Given the description of an element on the screen output the (x, y) to click on. 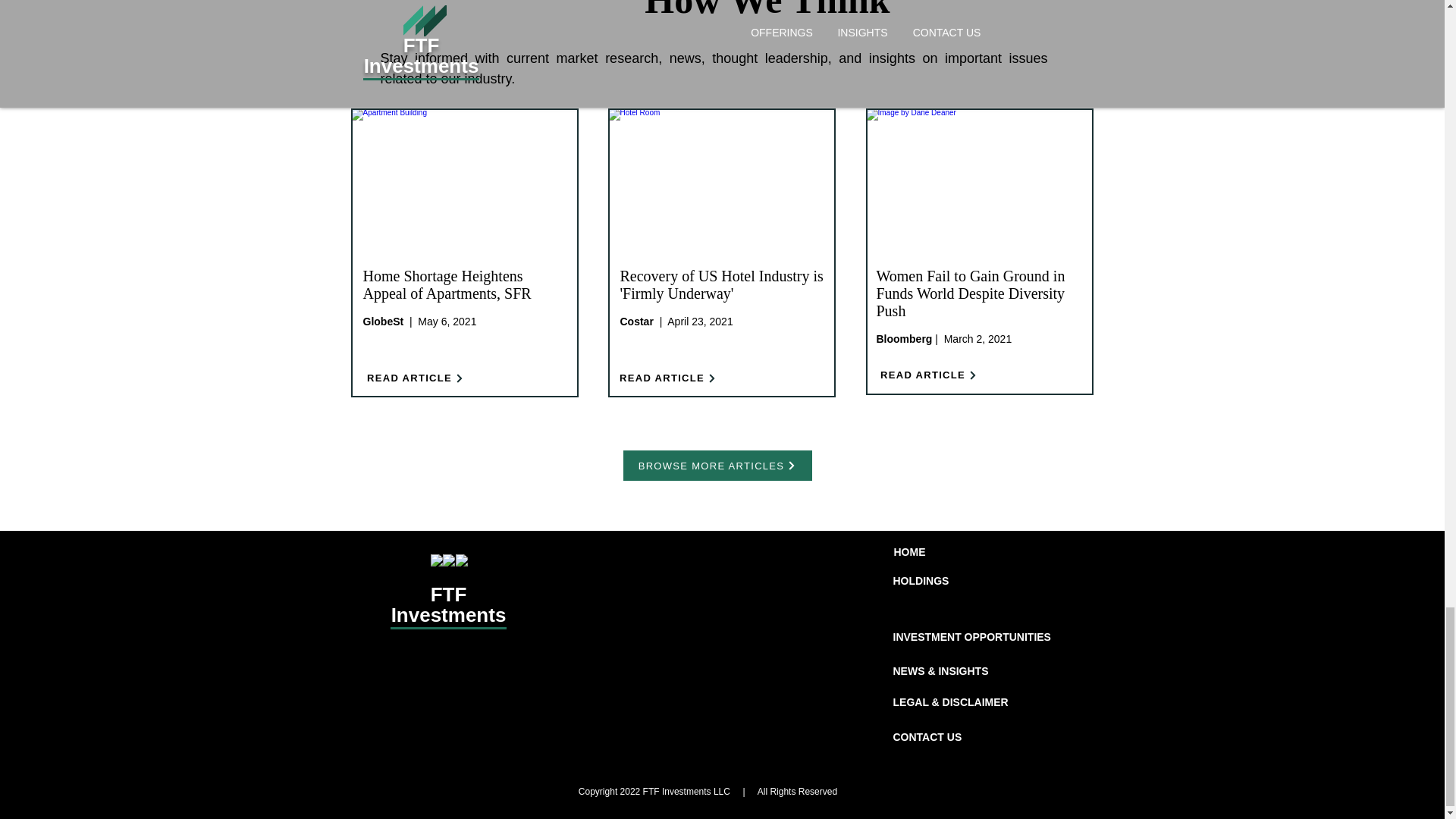
CONTACT US (927, 737)
Recovery of US Hotel Industry is 'Firmly Underway' (722, 284)
HOME (908, 552)
BROWSE MORE ARTICLES (717, 465)
FTF Investments (448, 604)
INVESTMENT OPPORTUNITIES (972, 636)
HOLDINGS (921, 581)
READ ARTICLE (928, 374)
READ ARTICLE (414, 377)
